Given the description of an element on the screen output the (x, y) to click on. 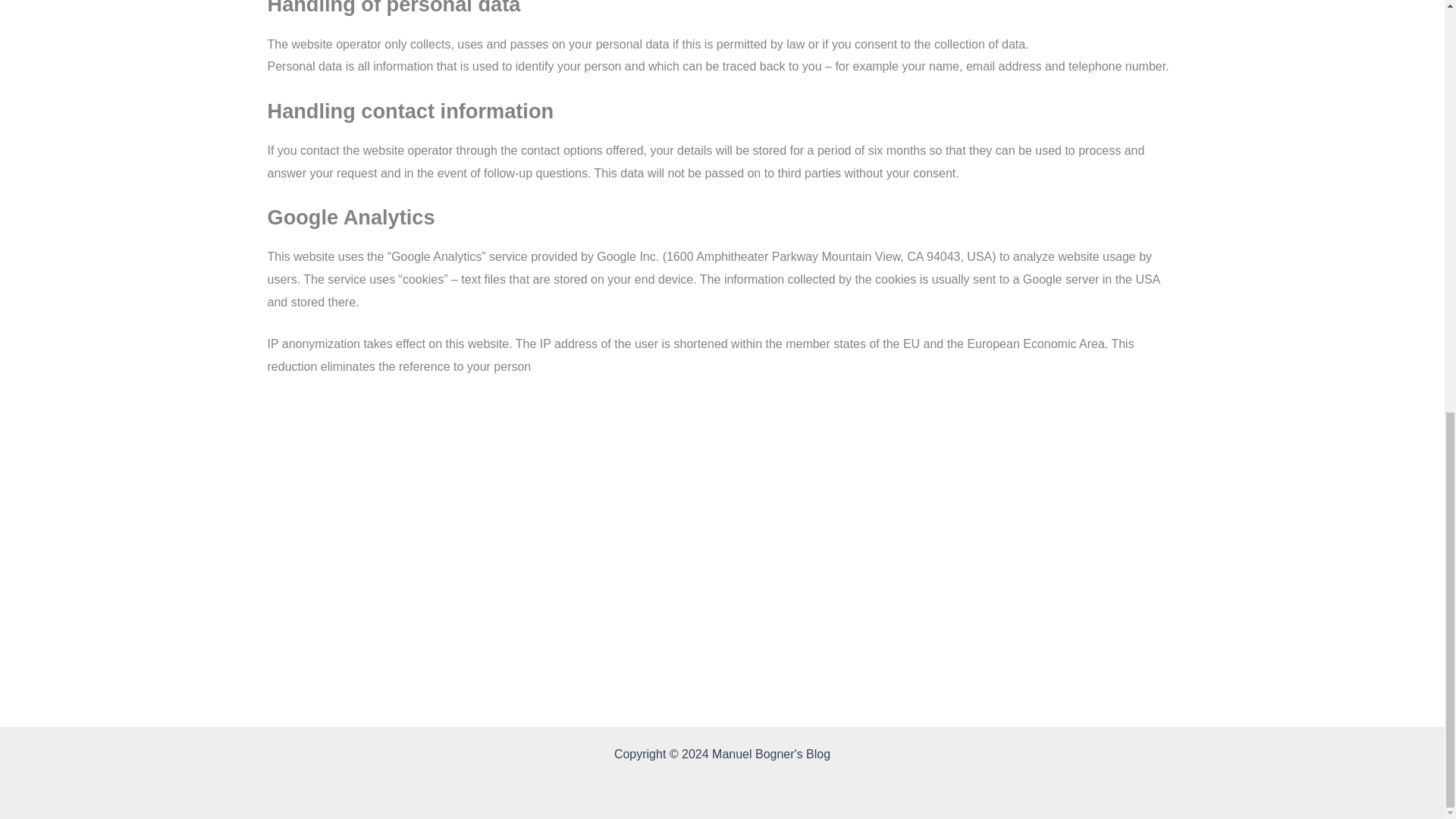
Advertisement (721, 465)
